Given the description of an element on the screen output the (x, y) to click on. 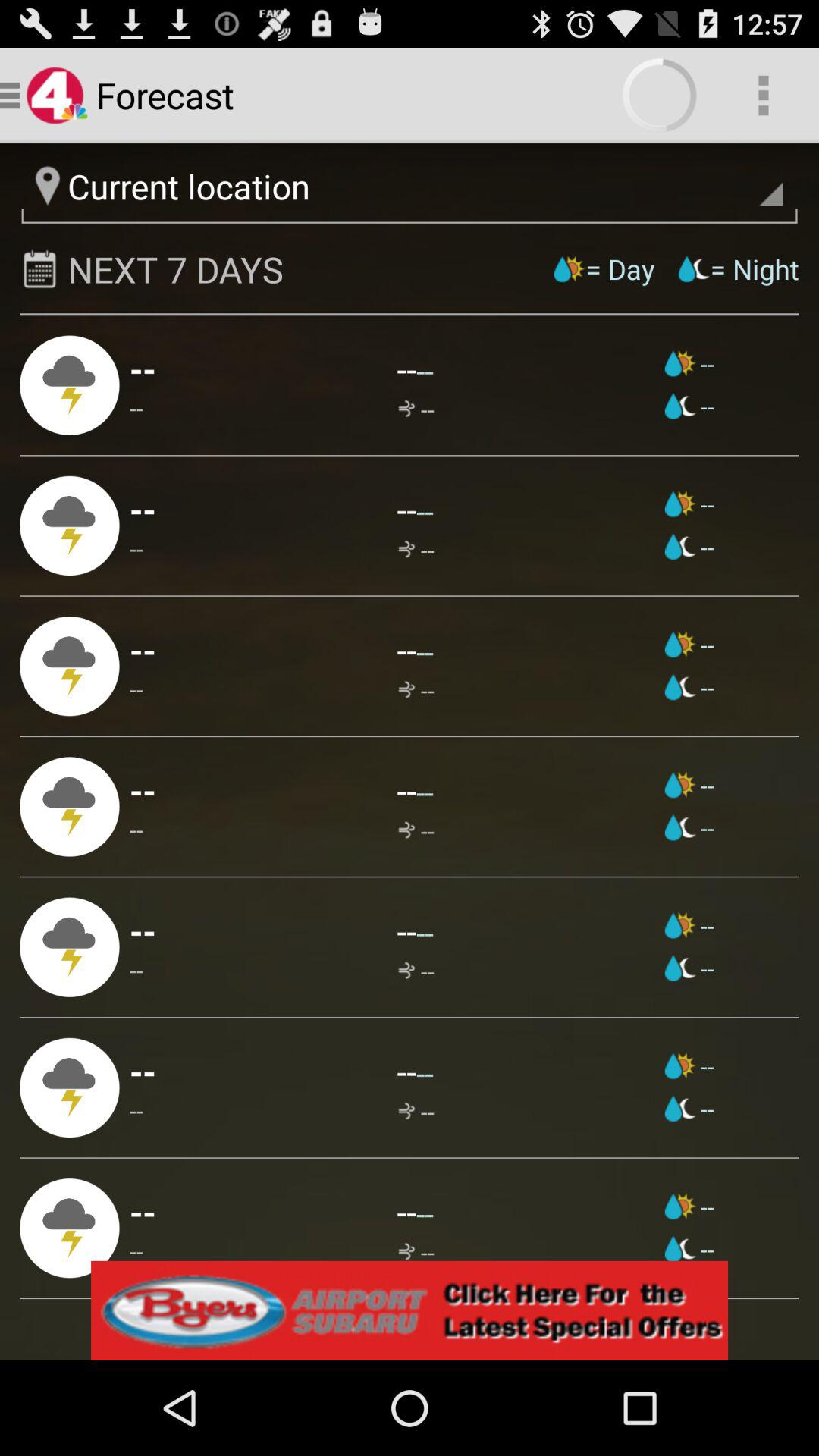
open item to the right of -- (689, 1206)
